Given the description of an element on the screen output the (x, y) to click on. 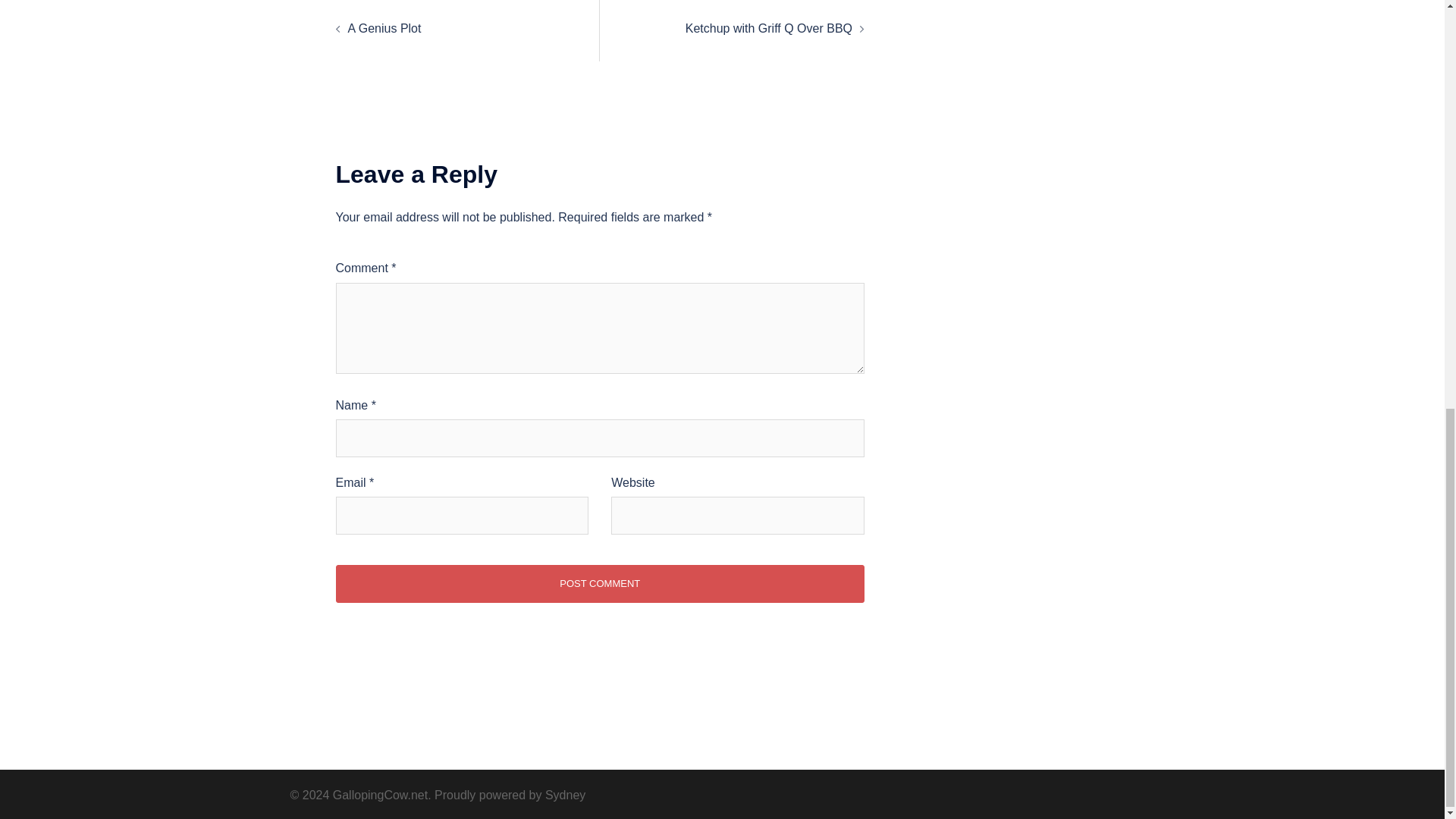
Sydney (564, 794)
Ketchup with Griff Q Over BBQ (768, 28)
Post Comment (599, 583)
Post Comment (599, 583)
A Genius Plot (383, 28)
